Given the description of an element on the screen output the (x, y) to click on. 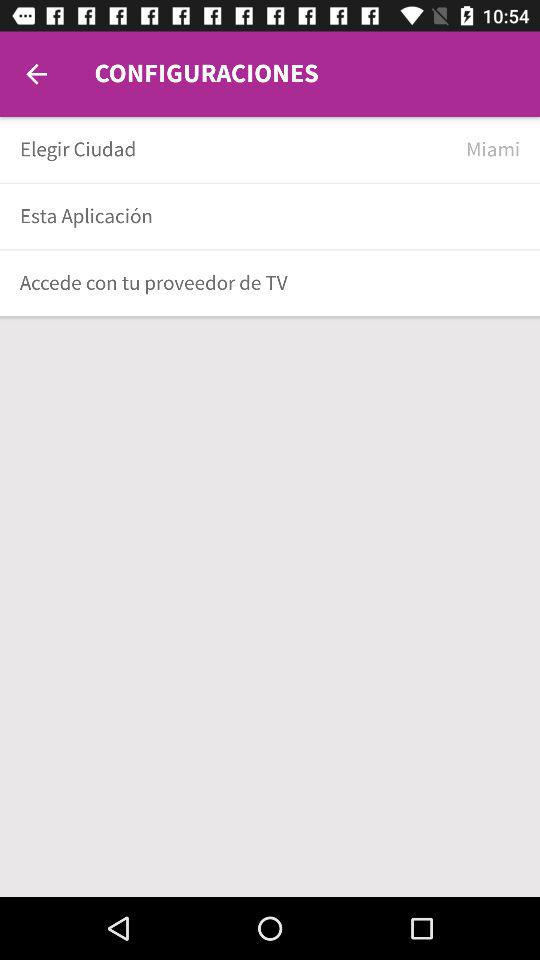
press the item next to elegir ciudad item (493, 149)
